Given the description of an element on the screen output the (x, y) to click on. 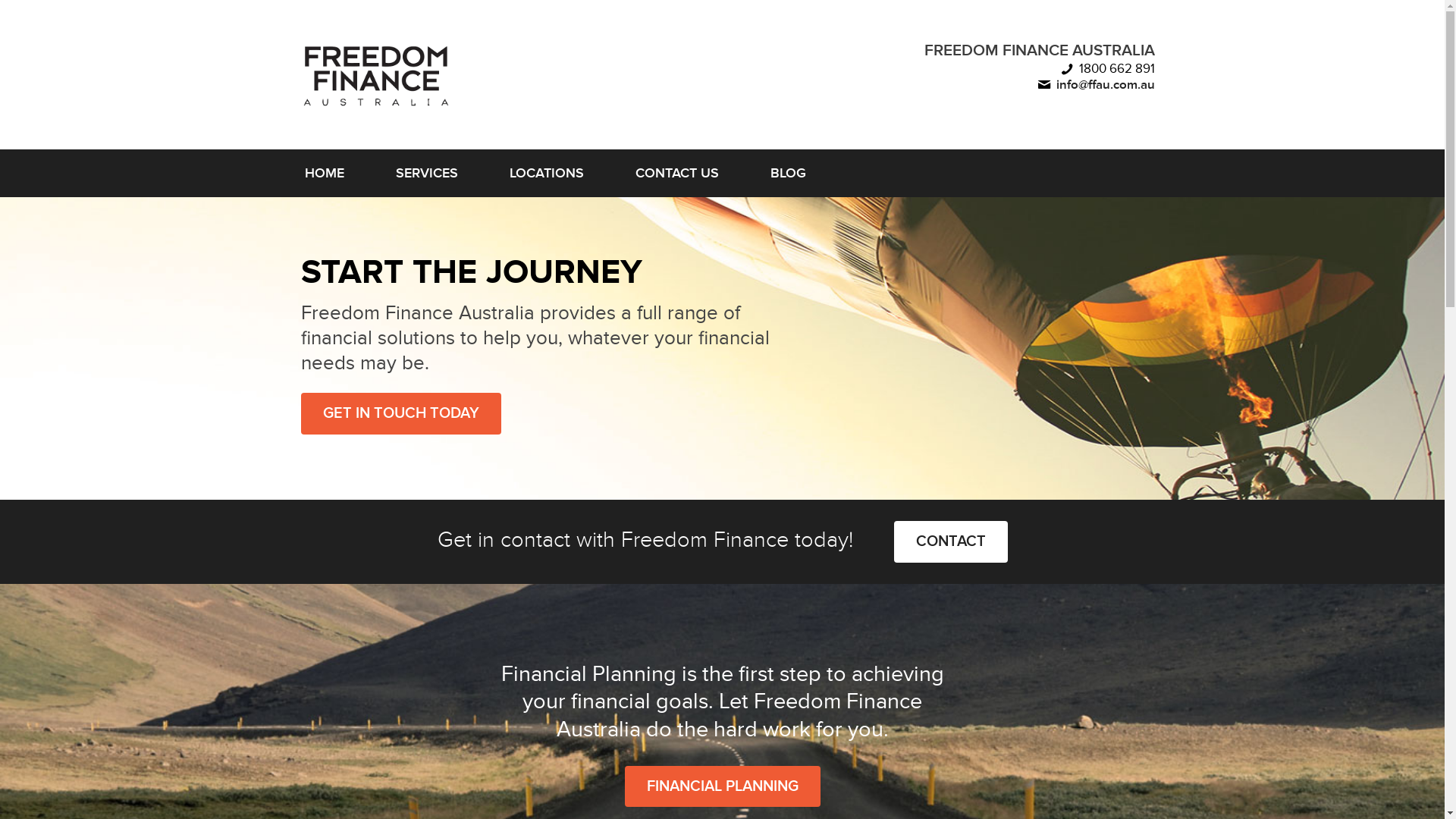
info@ffau.com.au Element type: text (1104, 84)
LOCATIONS Element type: text (546, 173)
HOME Element type: text (324, 173)
SERVICES Element type: text (426, 173)
BLOG Element type: text (787, 173)
Search Element type: text (35, 14)
GET IN TOUCH TODAY Element type: text (401, 413)
CONTACT US Element type: text (676, 173)
FINANCIAL PLANNING Element type: text (722, 786)
CONTACT Element type: text (950, 541)
